Given the description of an element on the screen output the (x, y) to click on. 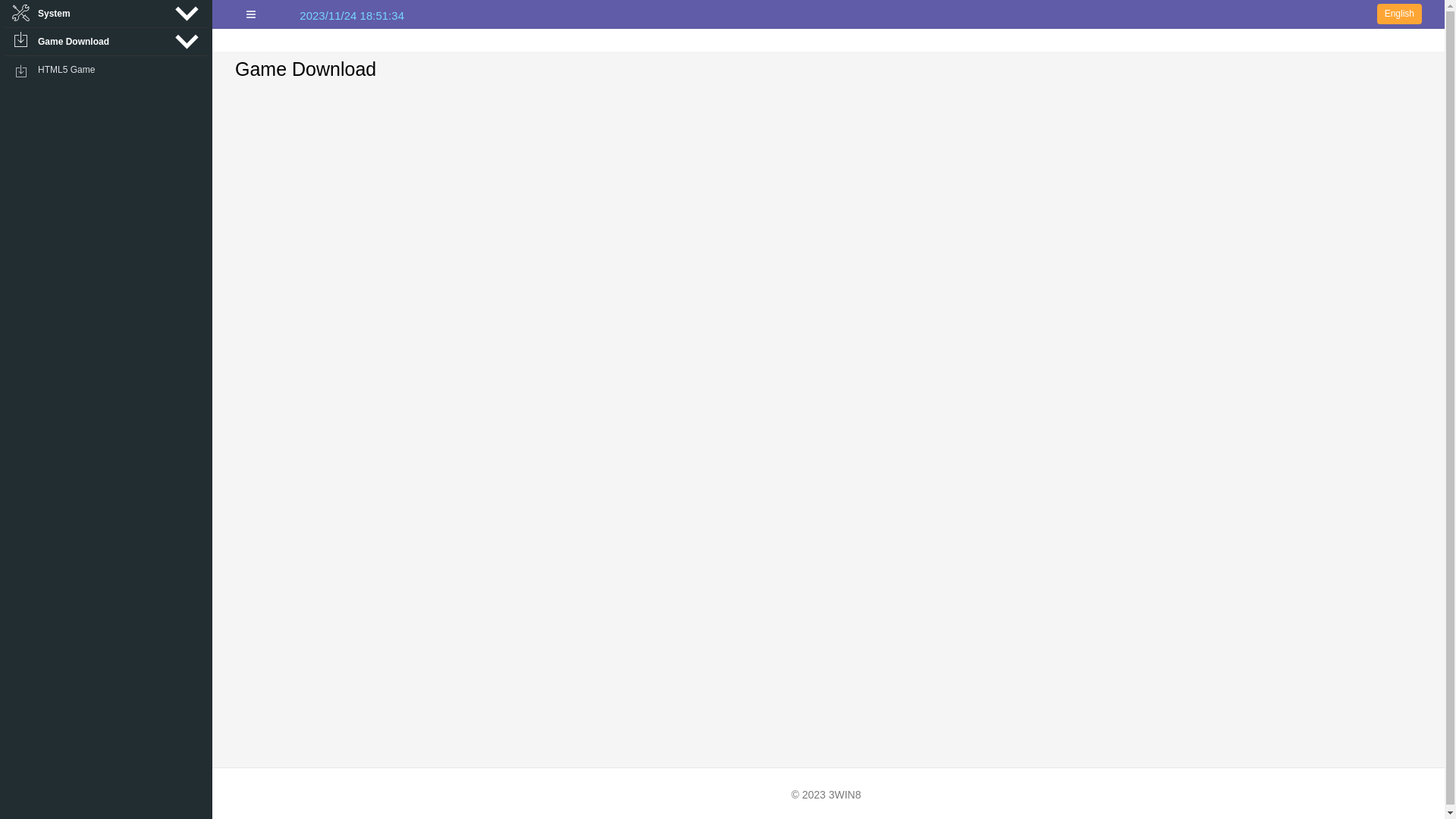
HTML5 Game Element type: text (105, 69)
Game Download Element type: text (105, 42)
System Element type: text (105, 14)
